Given the description of an element on the screen output the (x, y) to click on. 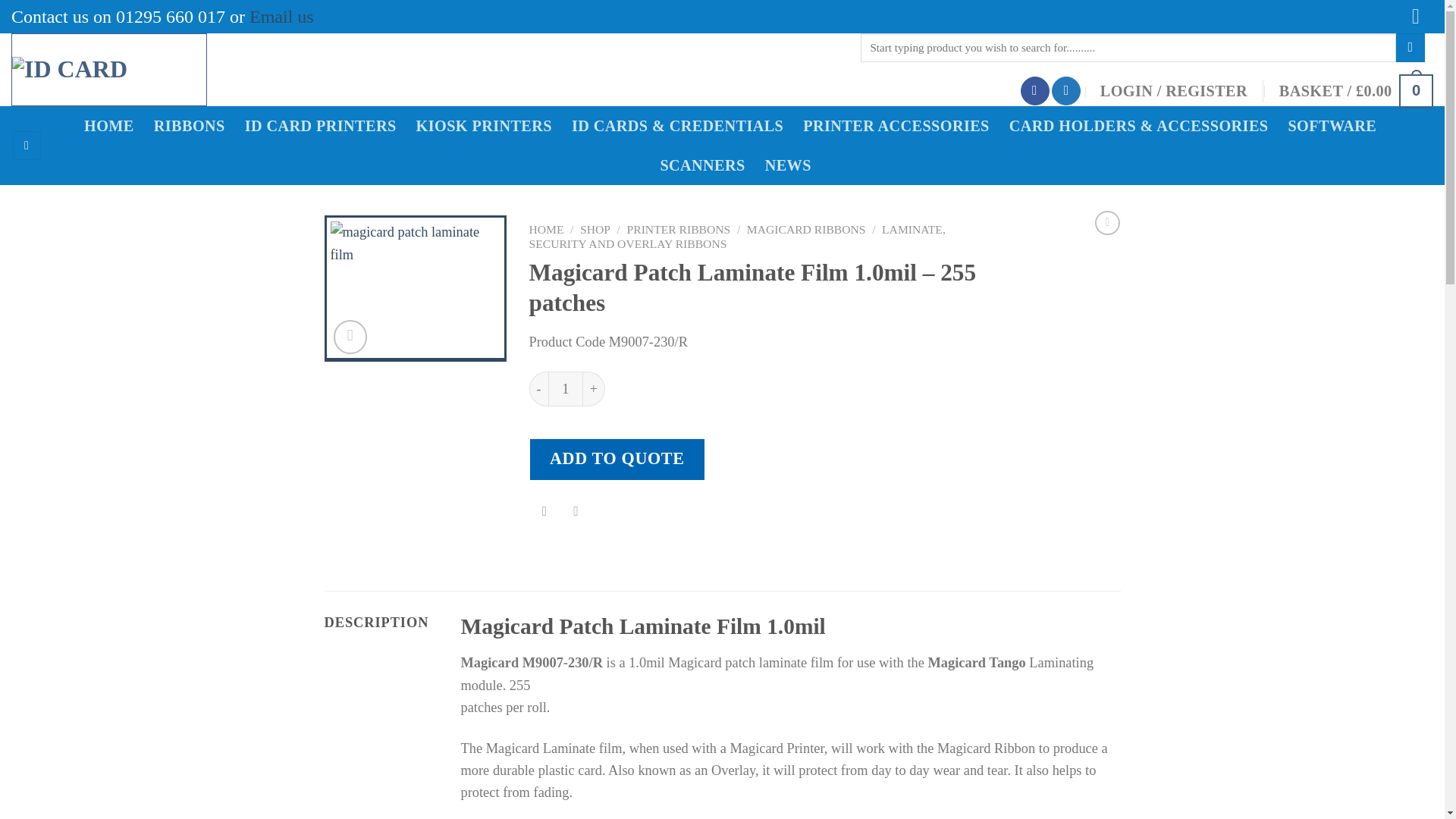
Zoom (350, 336)
HOME (546, 228)
Follow on Facebook (1034, 90)
Email us (281, 16)
M9007-230R (415, 288)
PRINTER RIBBONS (678, 228)
PRINTER ACCESSORIES (900, 125)
KIOSK PRINTERS (488, 125)
SOFTWARE (1336, 125)
